Given the description of an element on the screen output the (x, y) to click on. 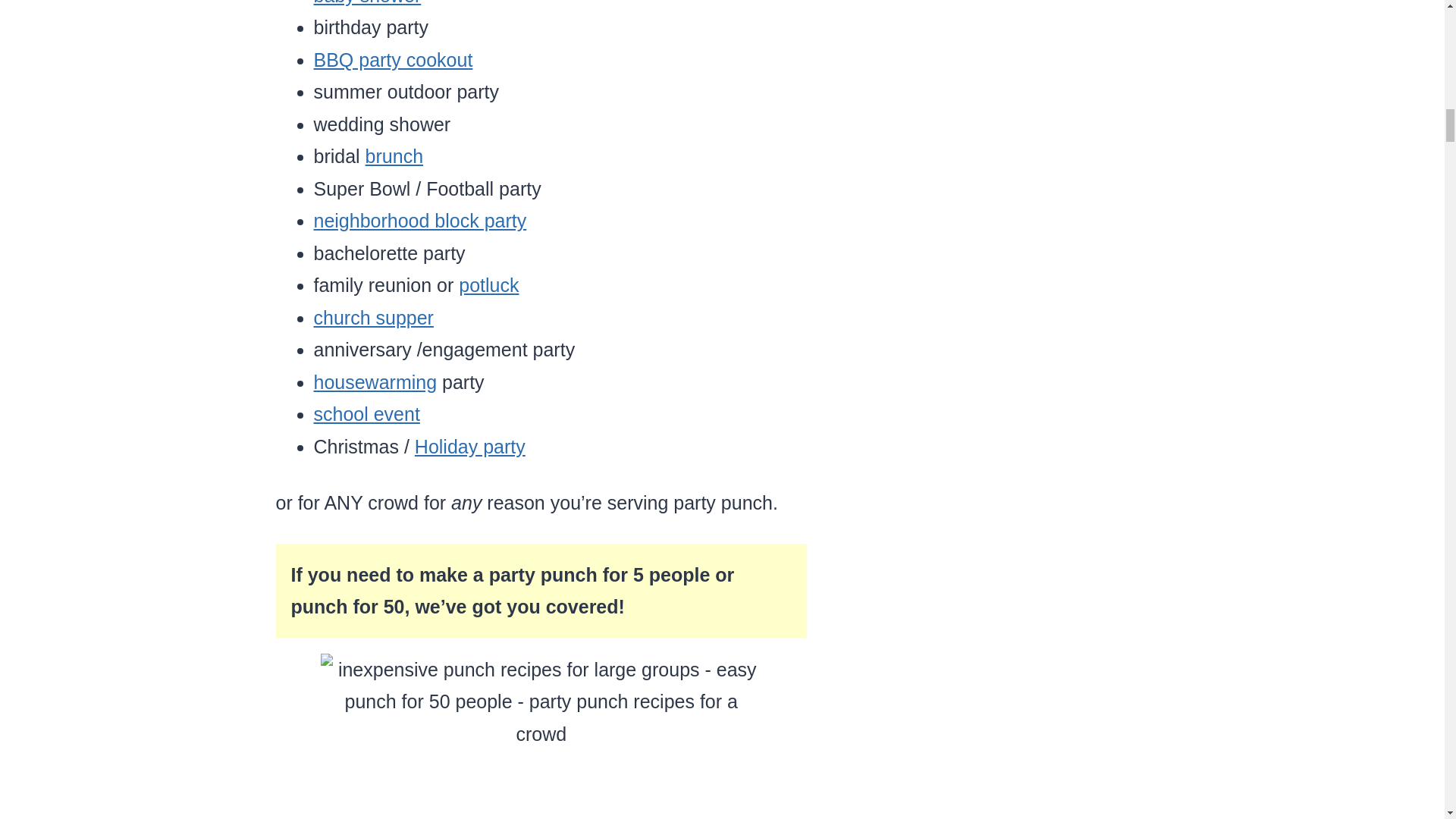
potluck (488, 284)
BBQ party cookout (393, 59)
baby shower (368, 2)
neighborhood block party (420, 219)
brunch (394, 156)
church supper (373, 317)
housewarming (376, 382)
school event (367, 414)
Holiday party (469, 446)
